Given the description of an element on the screen output the (x, y) to click on. 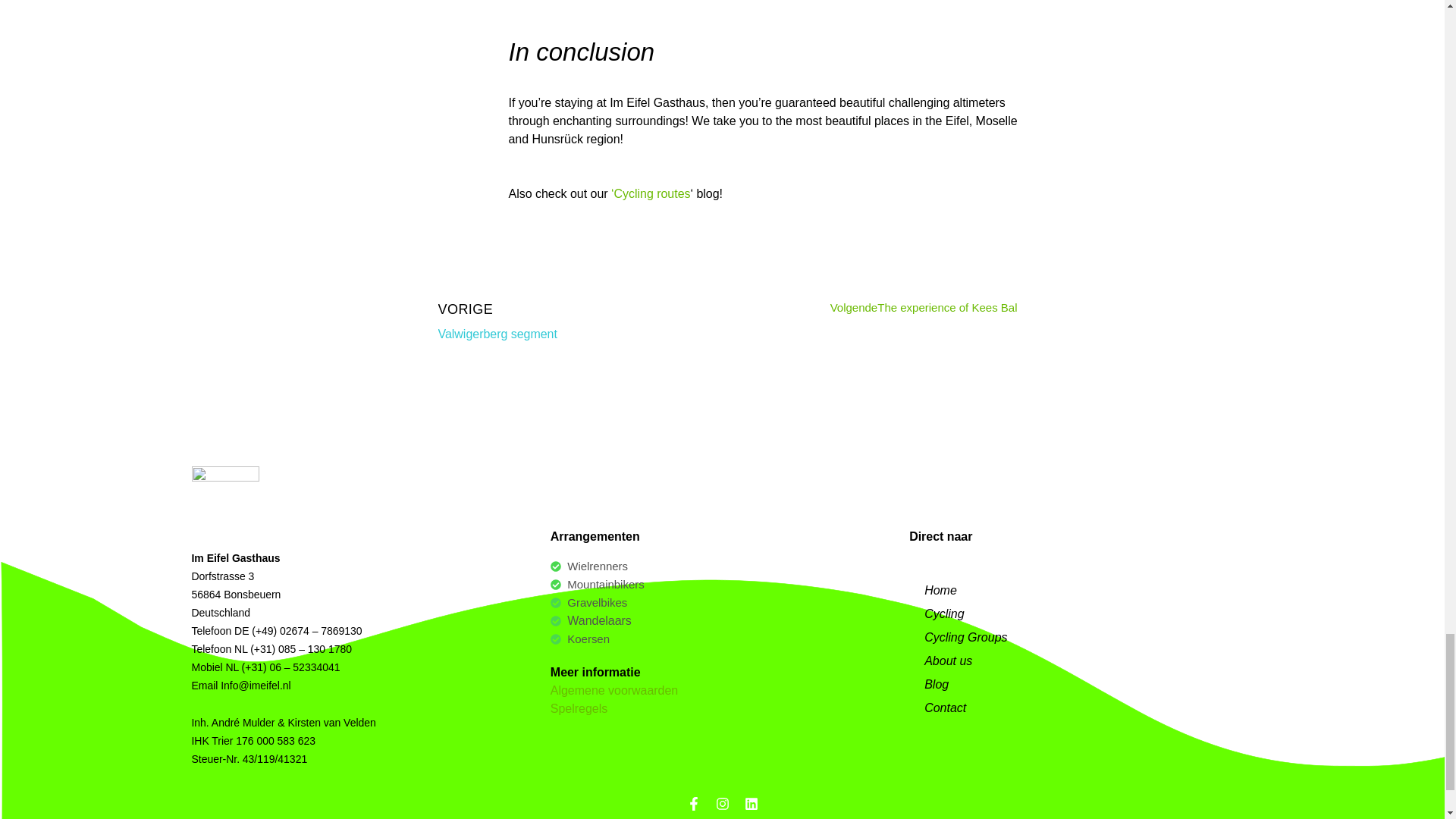
Algemene voorwaarden (574, 320)
Wielrenners (614, 689)
Gravelbikes (721, 566)
Koersen (721, 602)
Mountainbikers (721, 638)
VolgendeThe experience of Kees Bal (721, 584)
